Given the description of an element on the screen output the (x, y) to click on. 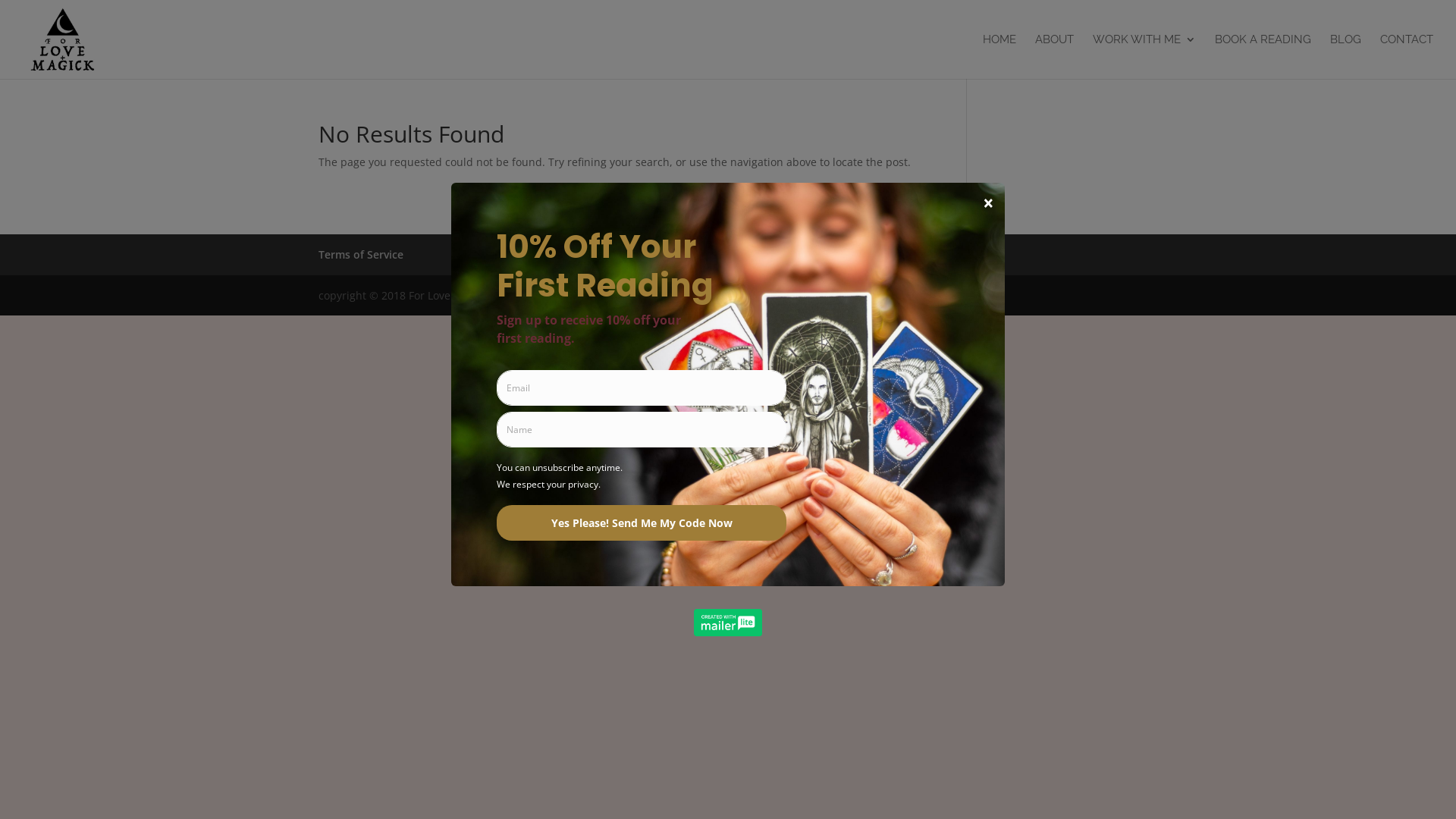
BOOK A READING Element type: text (1262, 56)
ABOUT Element type: text (1054, 56)
Copy Leopard Element type: text (638, 295)
CONTACT Element type: text (1406, 56)
Terms of Service Element type: text (360, 254)
BLOG Element type: text (1345, 56)
HOME Element type: text (999, 56)
WORK WITH ME Element type: text (1143, 56)
